Given the description of an element on the screen output the (x, y) to click on. 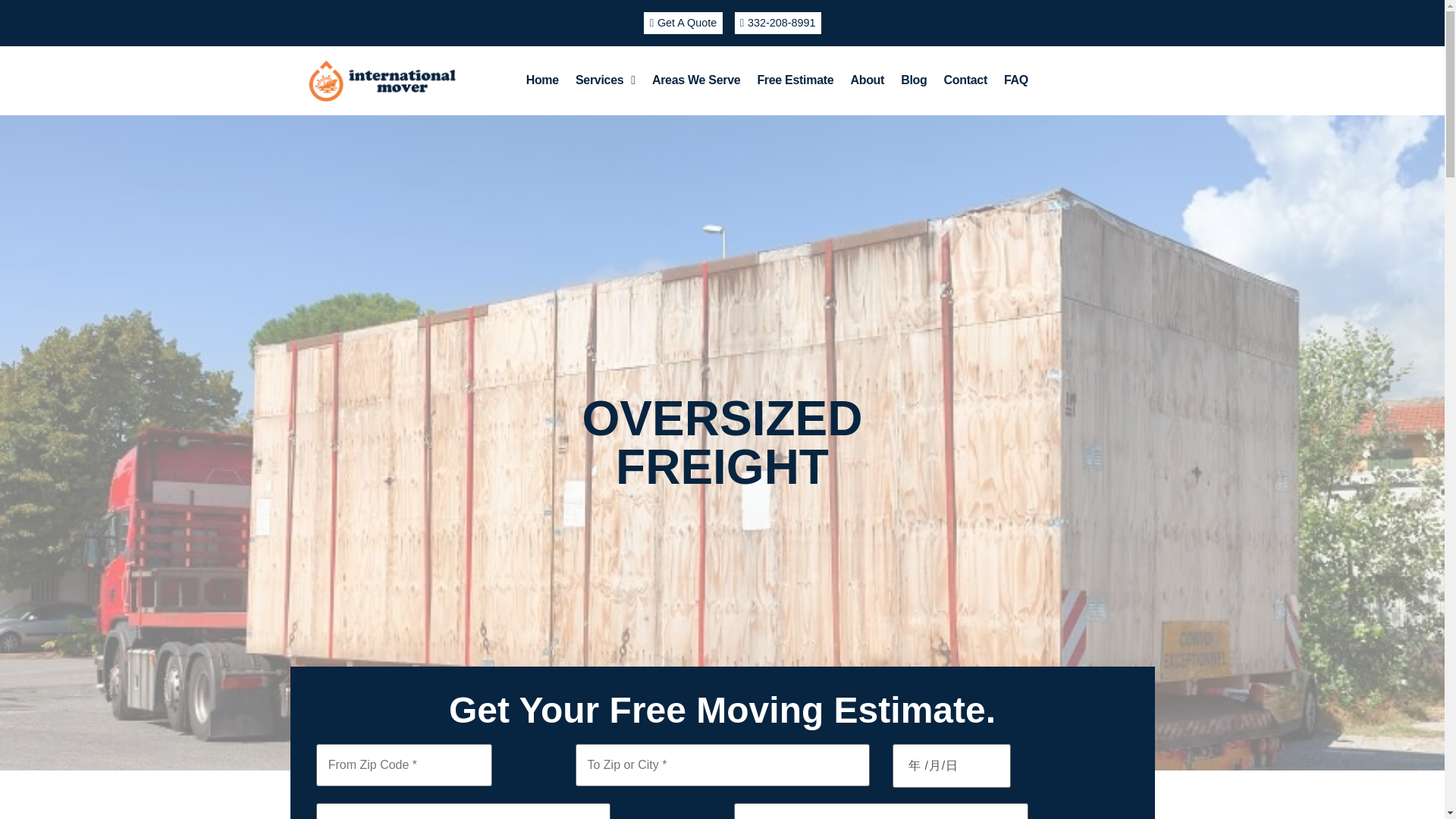
Contact (964, 79)
Areas We Serve (695, 79)
332-208-8991 (777, 23)
Get A Quote (682, 23)
Blog (913, 79)
Services (605, 79)
Home (542, 79)
FAQ (1015, 79)
Free Estimate (794, 79)
About (866, 79)
